Given the description of an element on the screen output the (x, y) to click on. 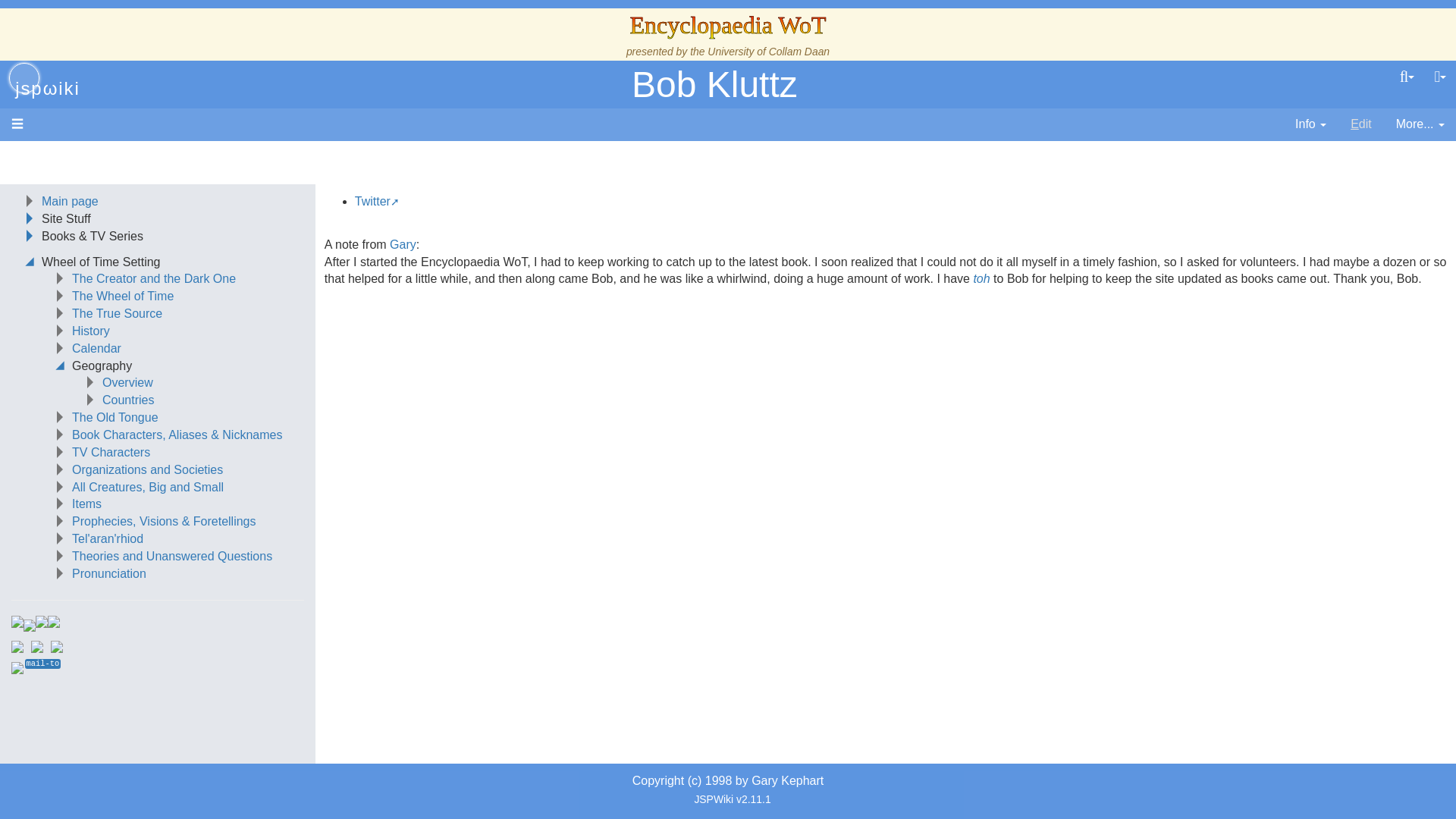
Go to home page Main  (23, 78)
Bob Kluttz (714, 85)
Main page (70, 201)
Edit (1361, 124)
Gary (403, 244)
Info (1311, 124)
Bob Kluttz (714, 84)
Twitter (376, 201)
toh (981, 278)
